Given the description of an element on the screen output the (x, y) to click on. 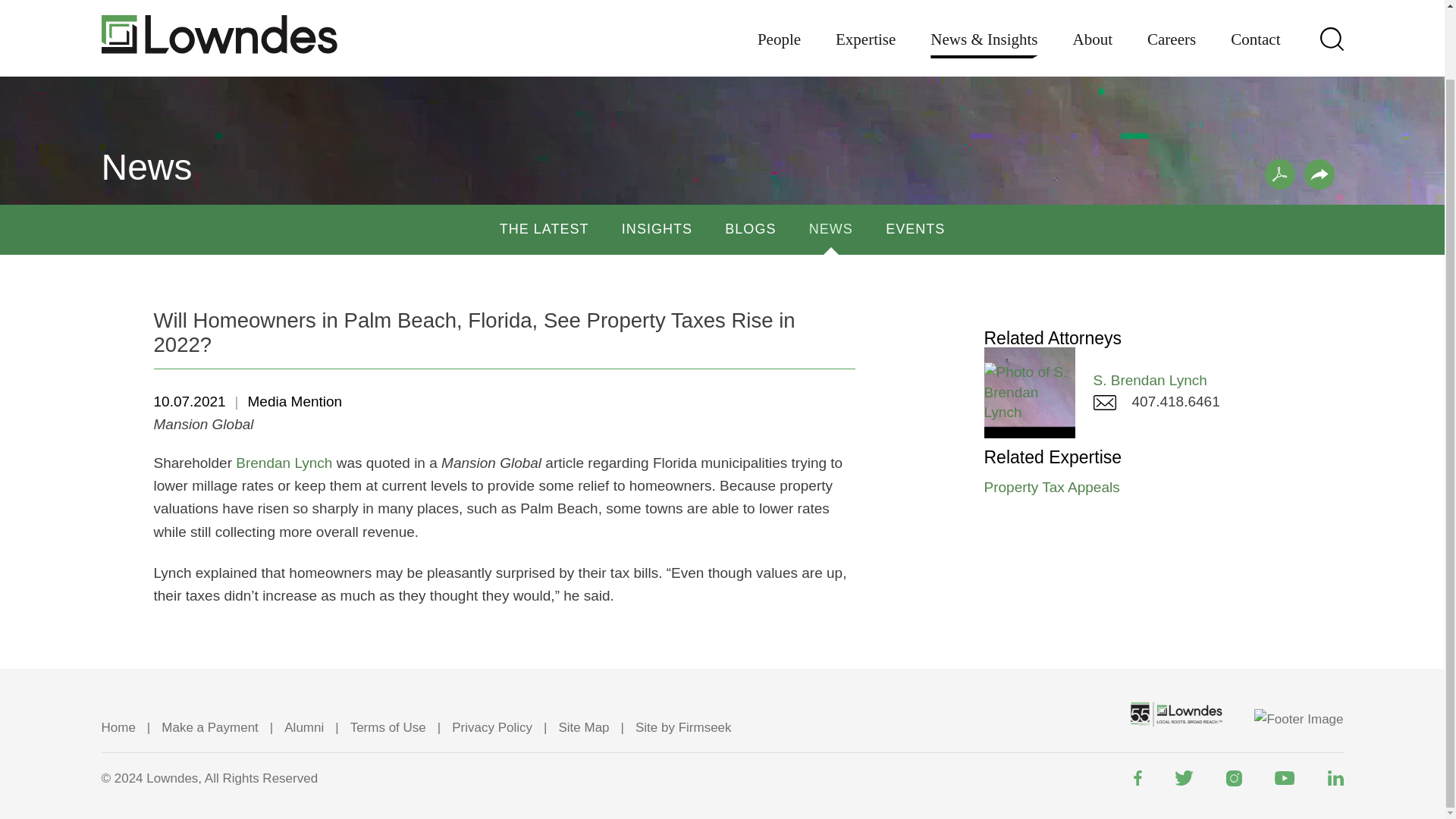
Print PDF (1280, 173)
Linkedin (1334, 777)
Instagram (1233, 778)
Twitter (1182, 777)
Youtube (1284, 777)
Share (1319, 173)
Brendan Lynch Bio (283, 462)
